Given the description of an element on the screen output the (x, y) to click on. 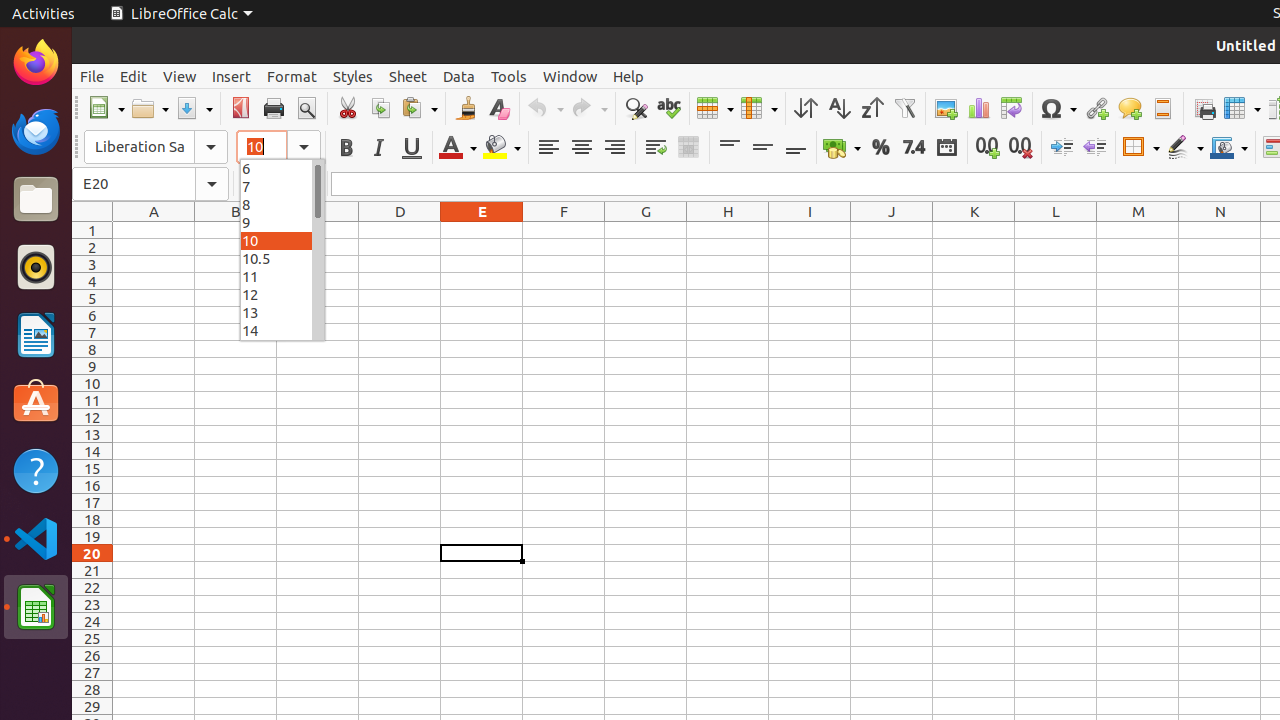
Align Right Element type: push-button (614, 147)
Rhythmbox Element type: push-button (36, 267)
AutoFilter Element type: push-button (904, 108)
N1 Element type: table-cell (1220, 230)
13 Element type: list-item (282, 312)
